Given the description of an element on the screen output the (x, y) to click on. 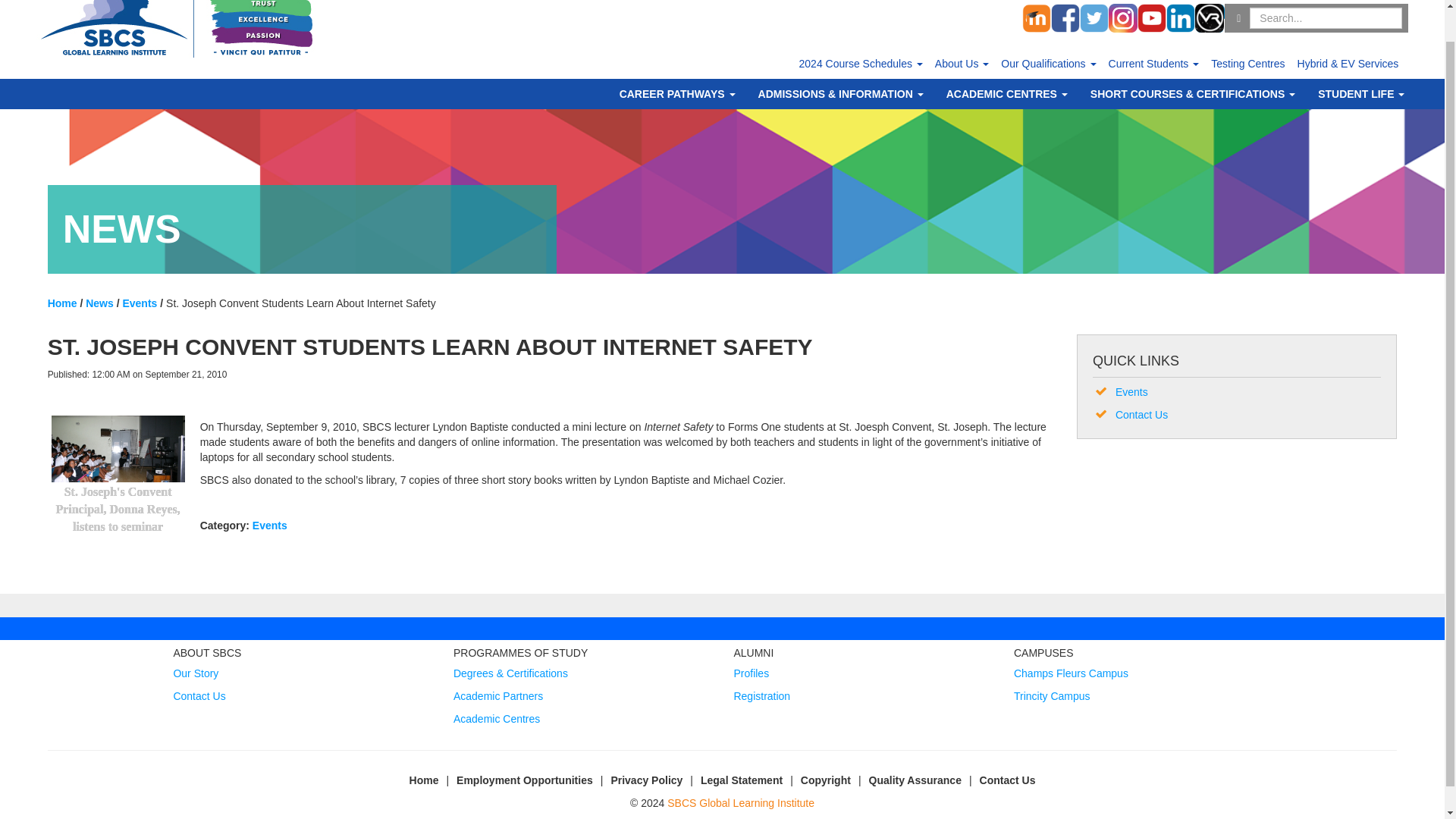
SBCS Global Learning Institute (180, 33)
